Given the description of an element on the screen output the (x, y) to click on. 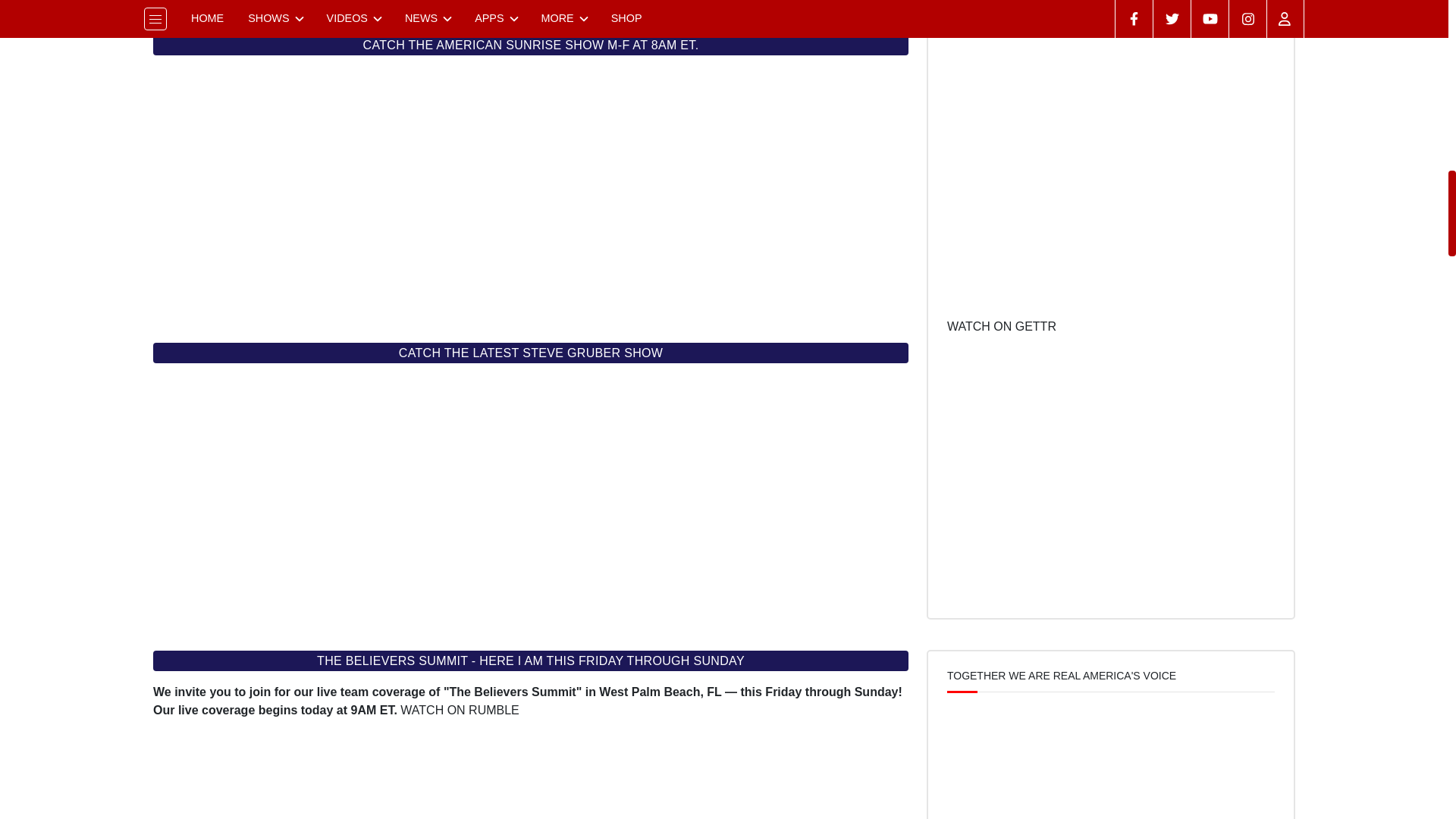
Widget iframe (530, 769)
Widget iframe (530, 8)
